Given the description of an element on the screen output the (x, y) to click on. 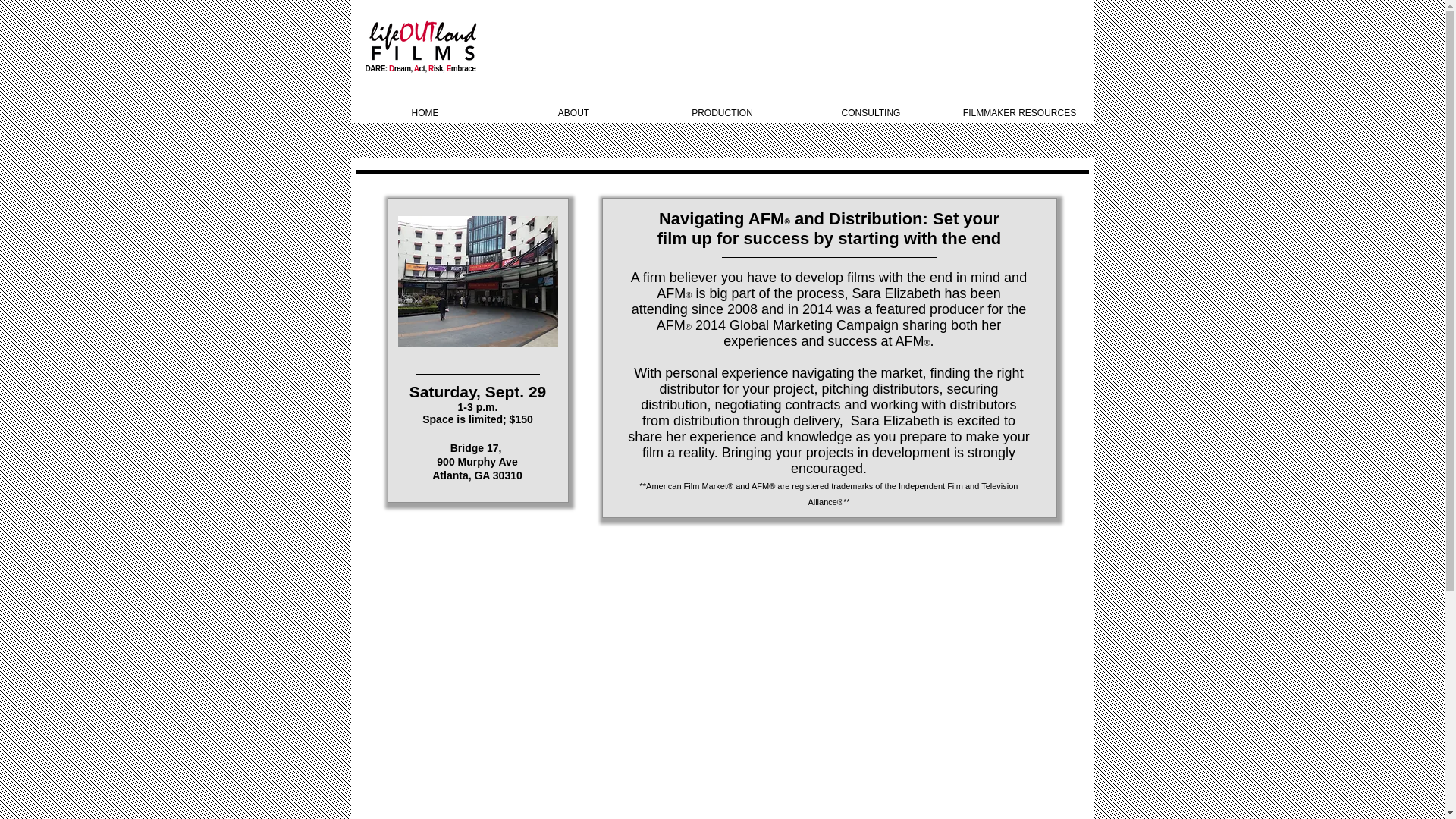
FILMMAKER RESOURCES (1018, 105)
CONSULTING (870, 105)
PRODUCTION (721, 105)
HOME (424, 105)
